Given the description of an element on the screen output the (x, y) to click on. 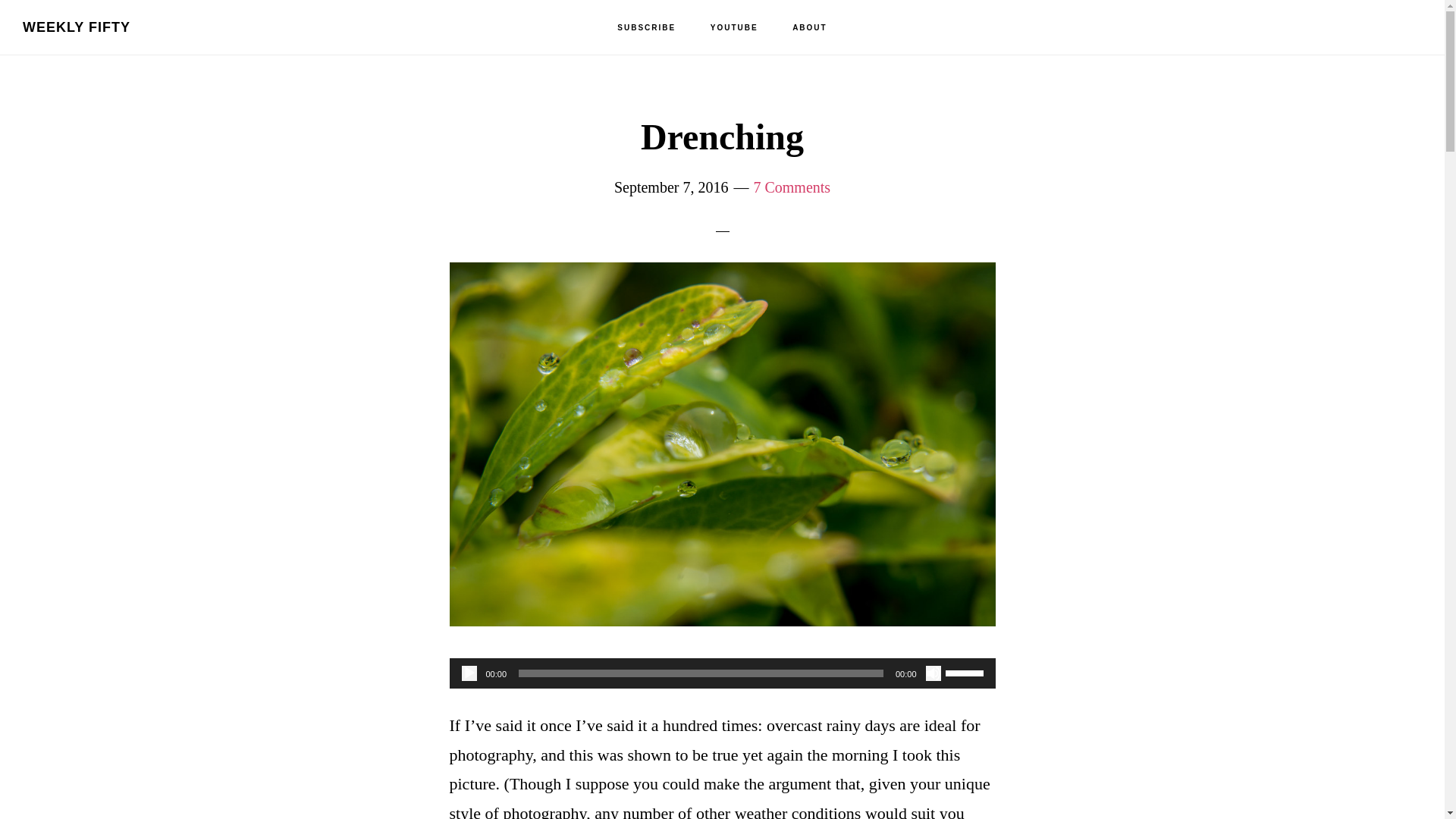
SUBSCRIBE (646, 27)
YOUTUBE (734, 27)
WEEKLY FIFTY (77, 27)
ABOUT (810, 27)
Mute (932, 672)
7 Comments (790, 187)
Drenching (721, 619)
Play (468, 672)
